Given the description of an element on the screen output the (x, y) to click on. 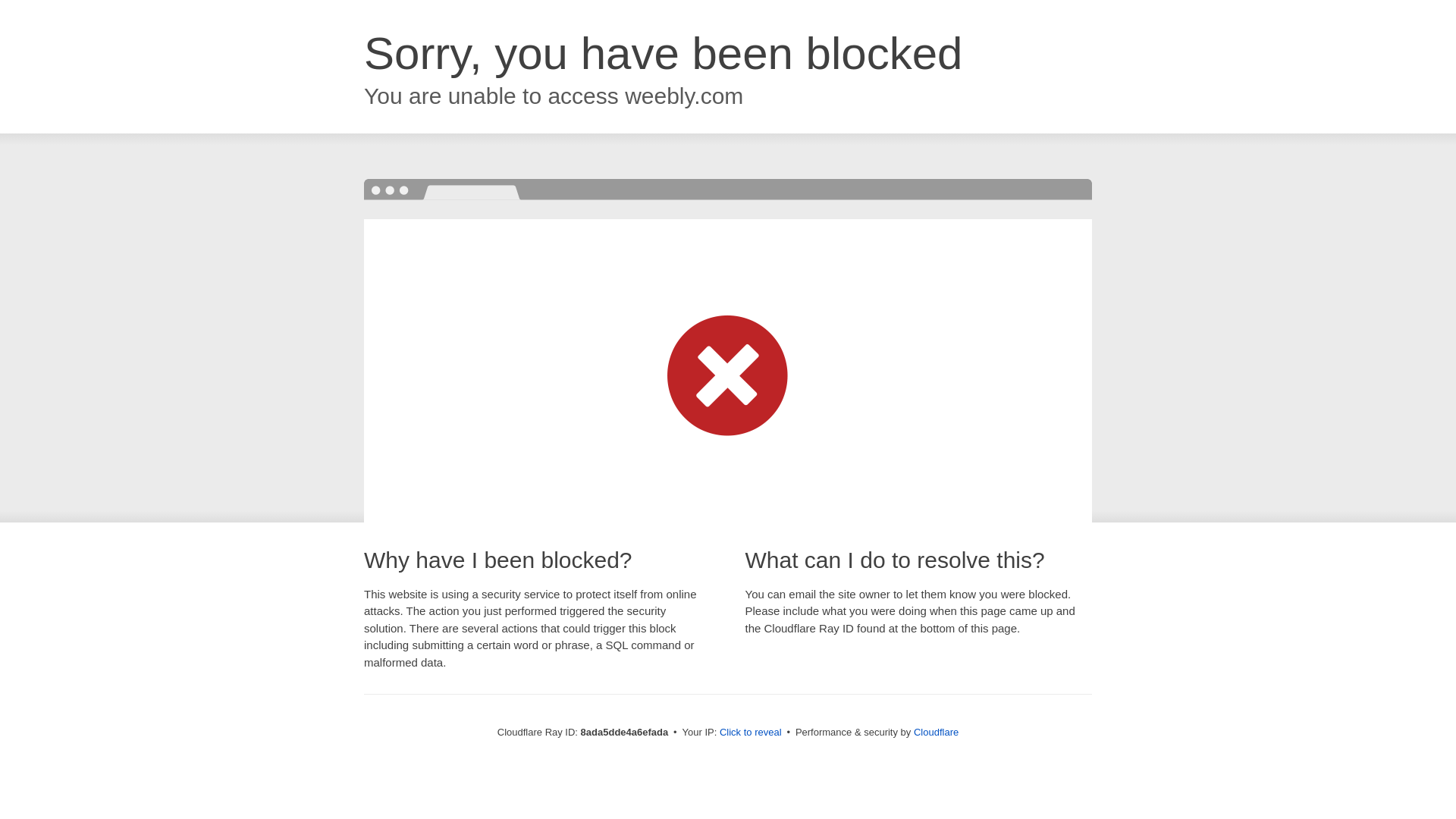
Cloudflare (936, 731)
Click to reveal (750, 732)
